Given the description of an element on the screen output the (x, y) to click on. 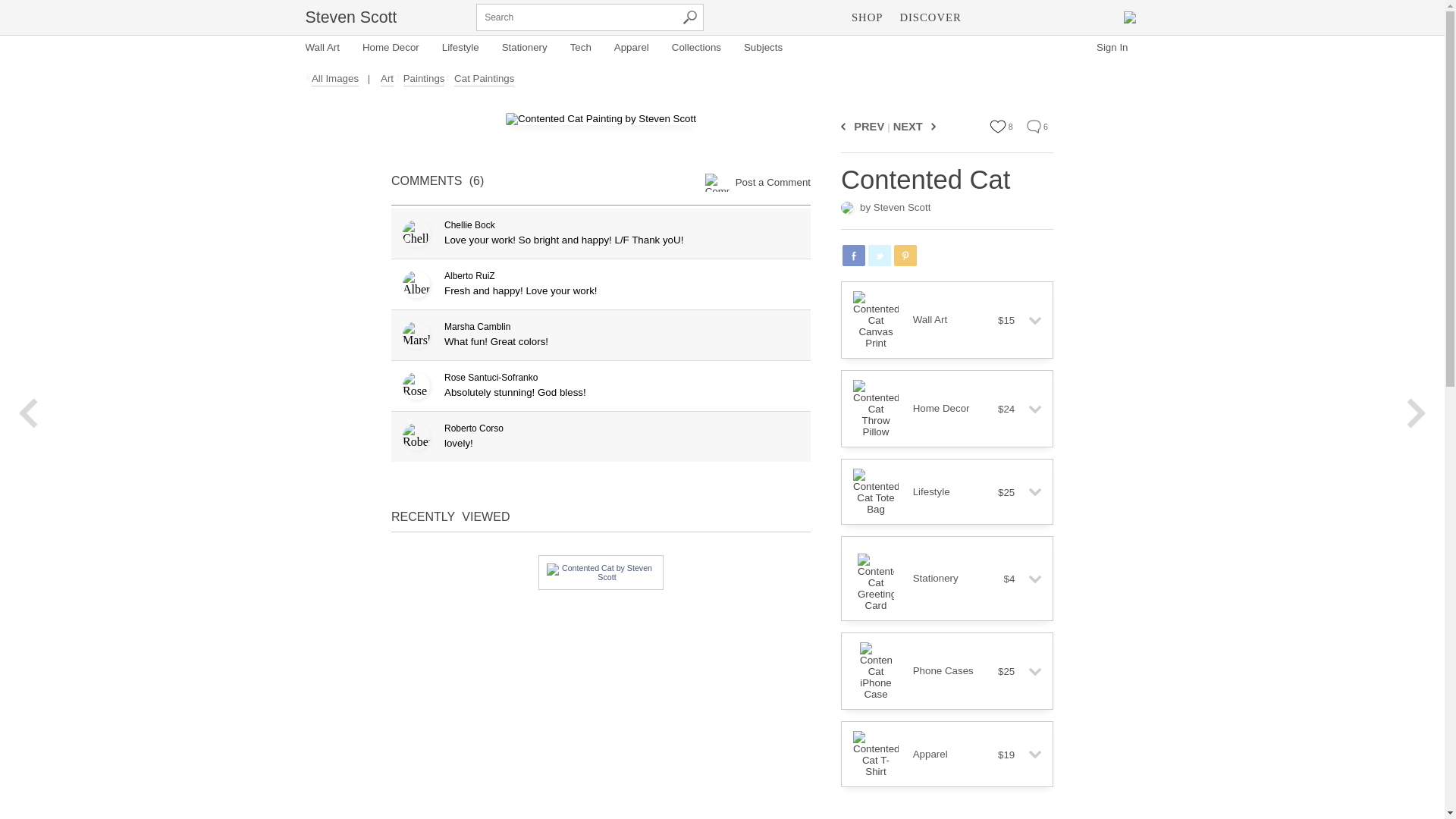
Comment (1033, 126)
Share Product on Pinterest (905, 255)
Share Product on Twitter (879, 255)
Next Image (931, 126)
Search (689, 17)
Share Product on Facebook (853, 255)
DISCOVER (930, 16)
Previous Image (845, 126)
SHOP (866, 16)
Expand Product (1029, 320)
Favorite (998, 126)
Steven Scott (350, 16)
Contented Cat Painting by Steven Scott (600, 119)
